Given the description of an element on the screen output the (x, y) to click on. 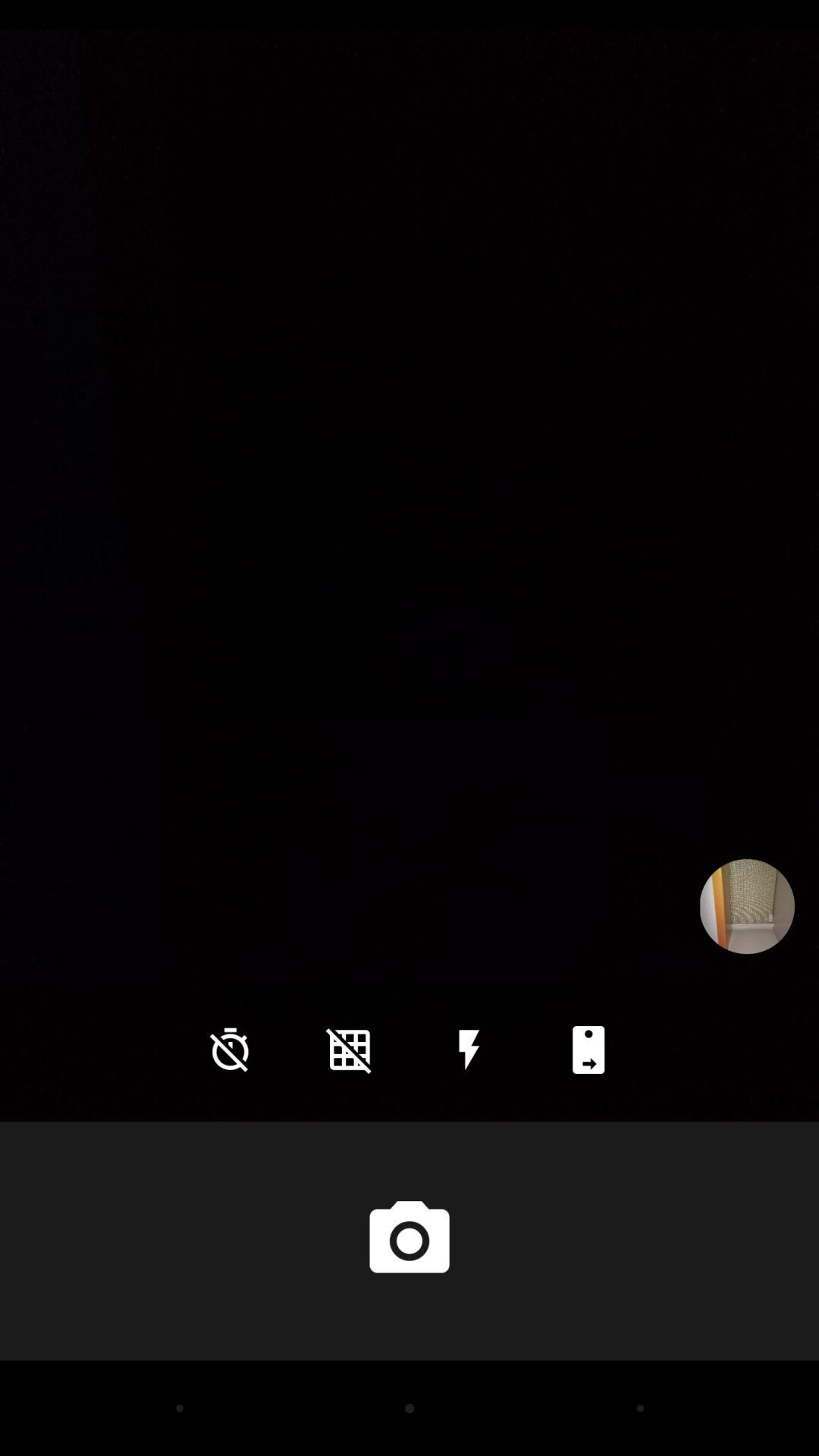
launch icon on the right (746, 905)
